Given the description of an element on the screen output the (x, y) to click on. 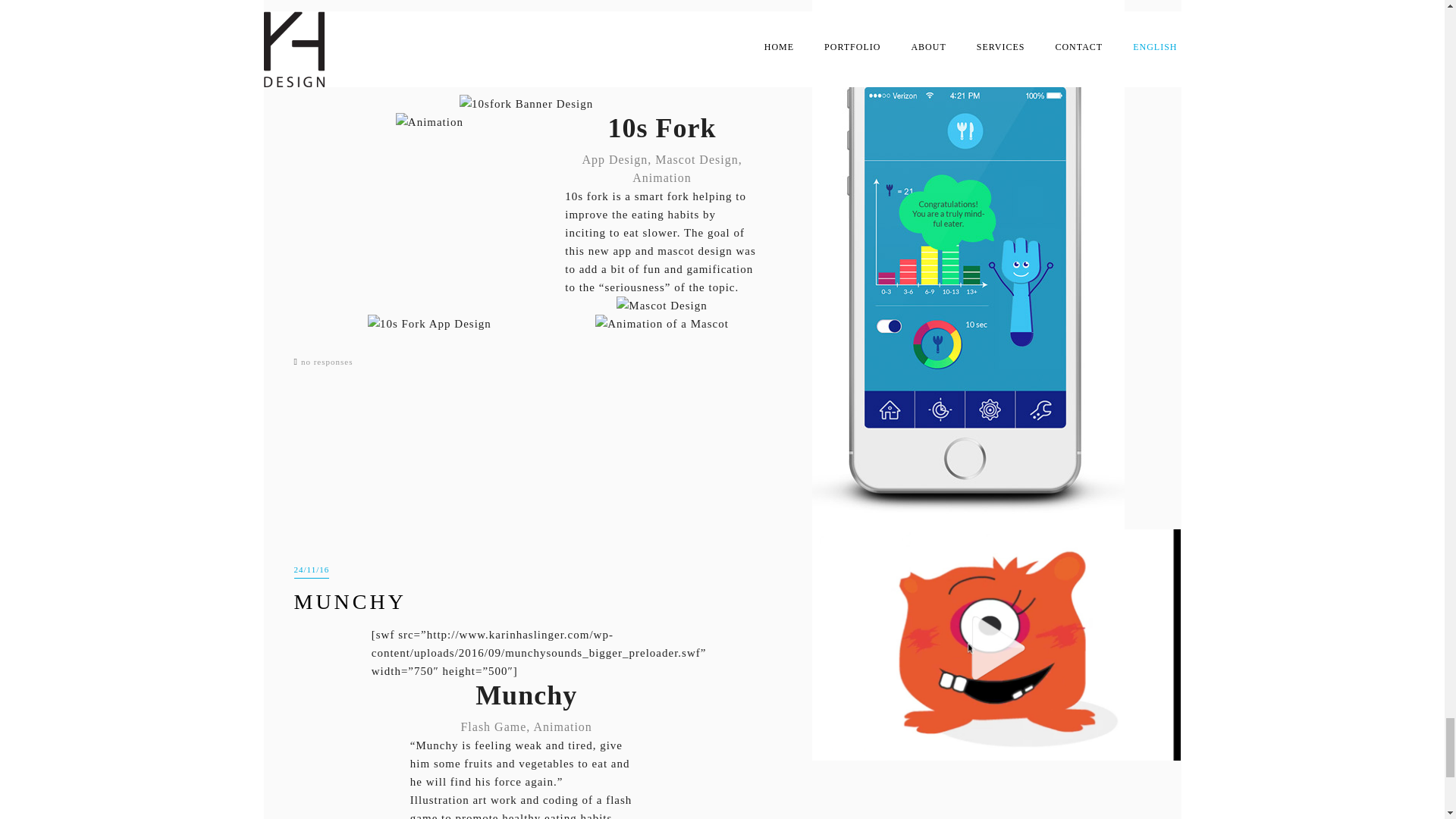
10S FORK (353, 70)
no responses (327, 361)
MUNCHY (350, 601)
